Given the description of an element on the screen output the (x, y) to click on. 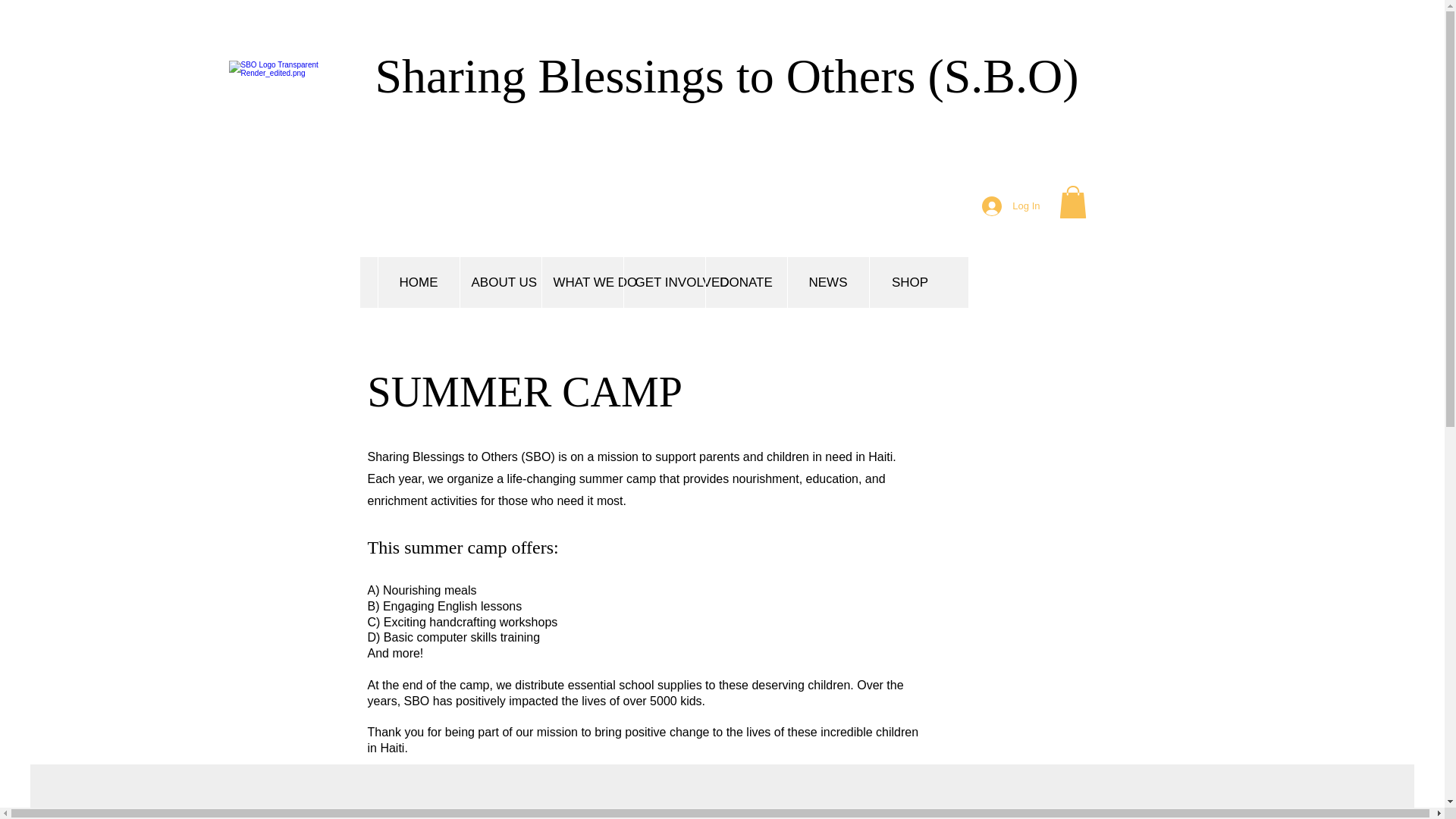
DONATE (745, 282)
GET INVOLVED (663, 282)
Log In (1010, 205)
ABOUT US (500, 282)
NEWS (828, 282)
SHOP (909, 282)
WHAT WE DO (582, 282)
HOME (418, 282)
